Given the description of an element on the screen output the (x, y) to click on. 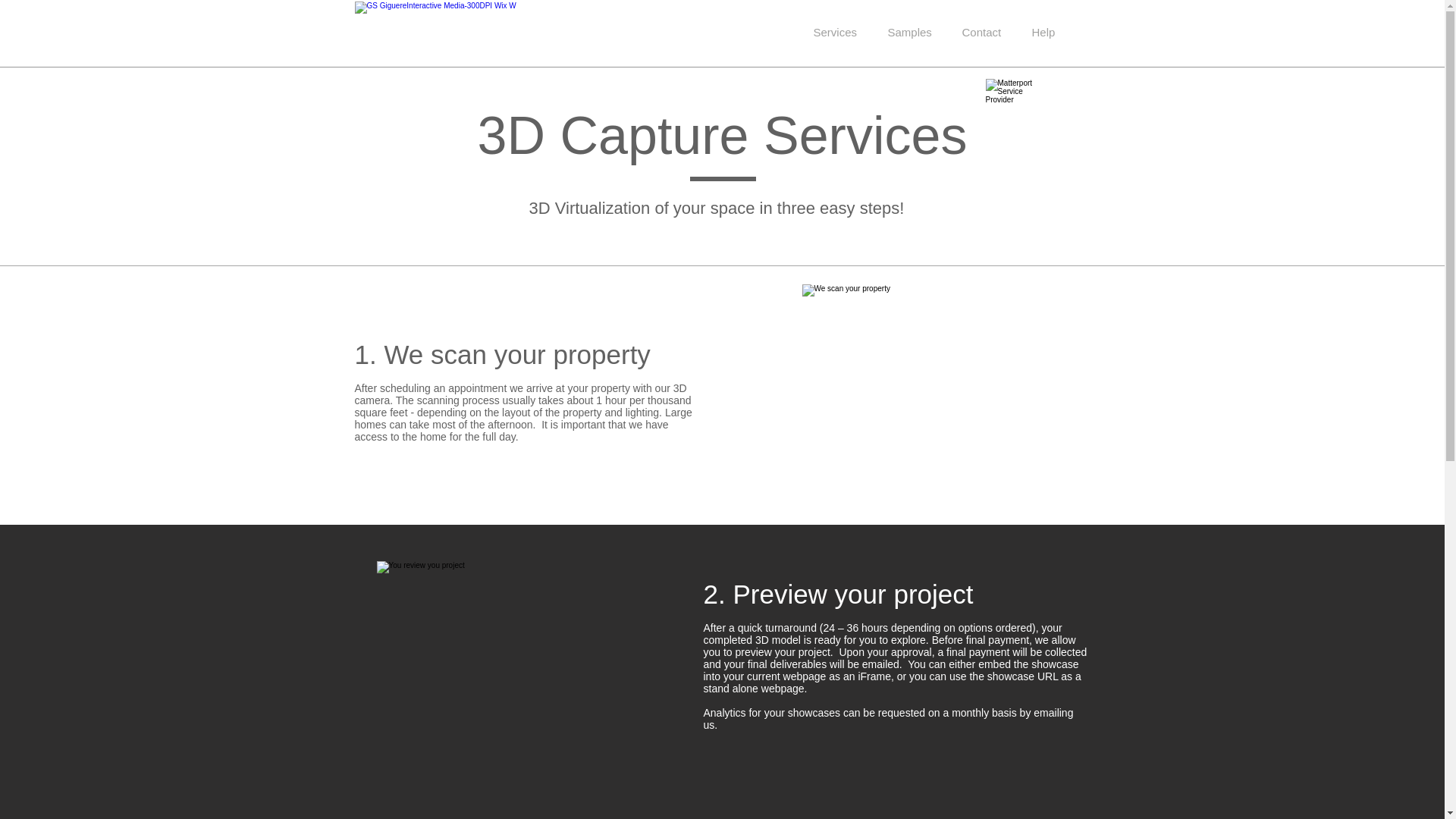
Samples (909, 31)
Help (1043, 31)
Contact (981, 31)
